Given the description of an element on the screen output the (x, y) to click on. 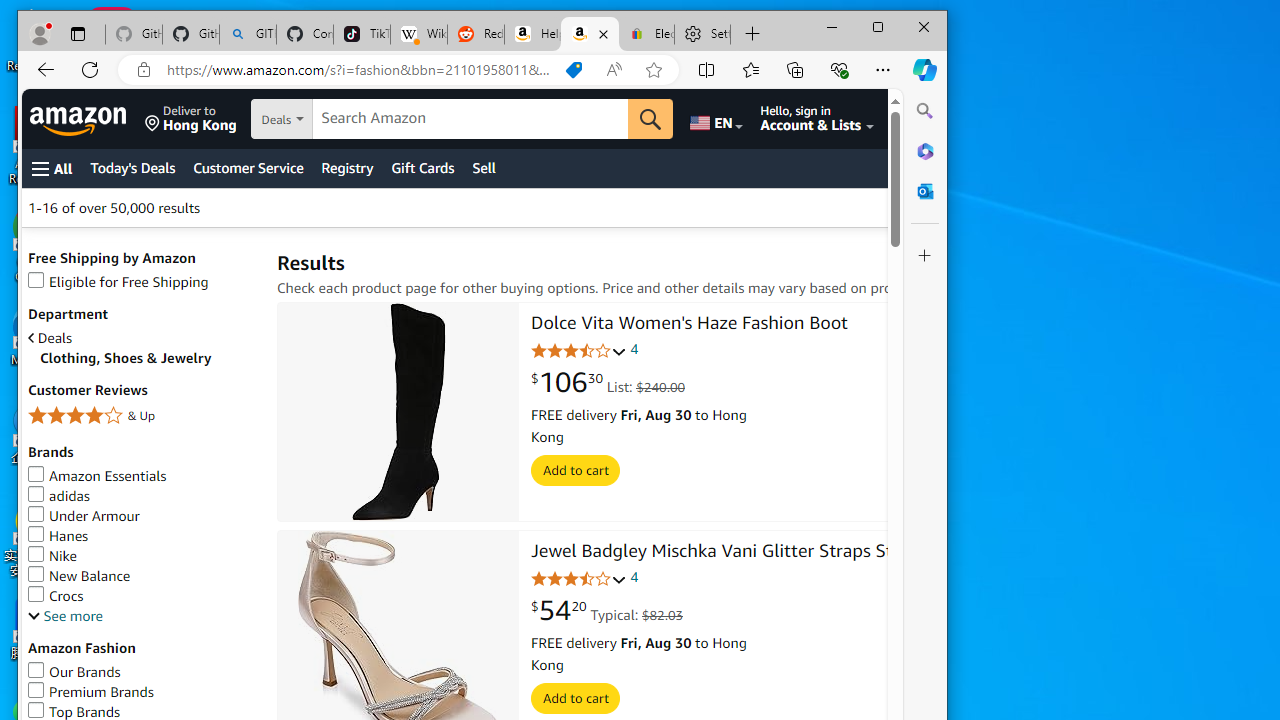
4 Stars & Up (142, 416)
4 (633, 578)
Deals (50, 338)
Hanes (142, 536)
Choose a language for shopping. (715, 119)
Dolce Vita Women's Haze Fashion Boot (397, 412)
Our Brands (74, 671)
